Given the description of an element on the screen output the (x, y) to click on. 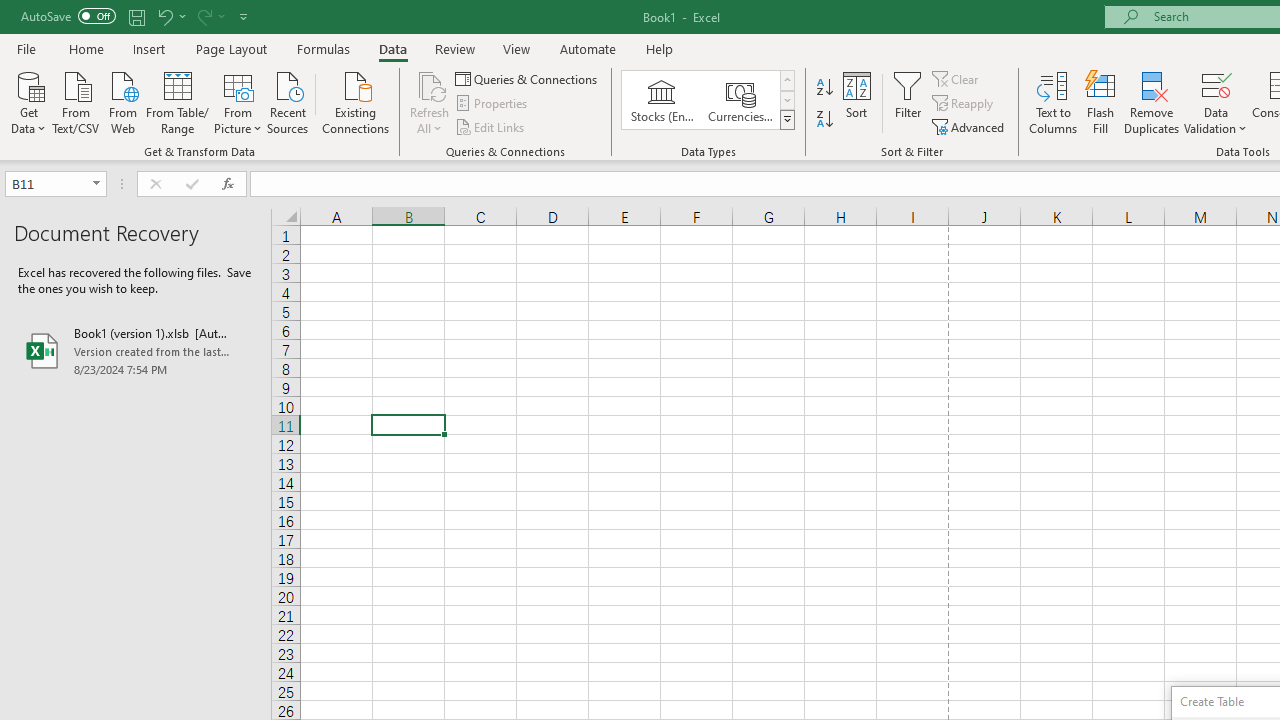
Text to Columns... (1053, 102)
Remove Duplicates (1151, 102)
From Picture (238, 101)
Reapply (964, 103)
Filter (908, 102)
